Given the description of an element on the screen output the (x, y) to click on. 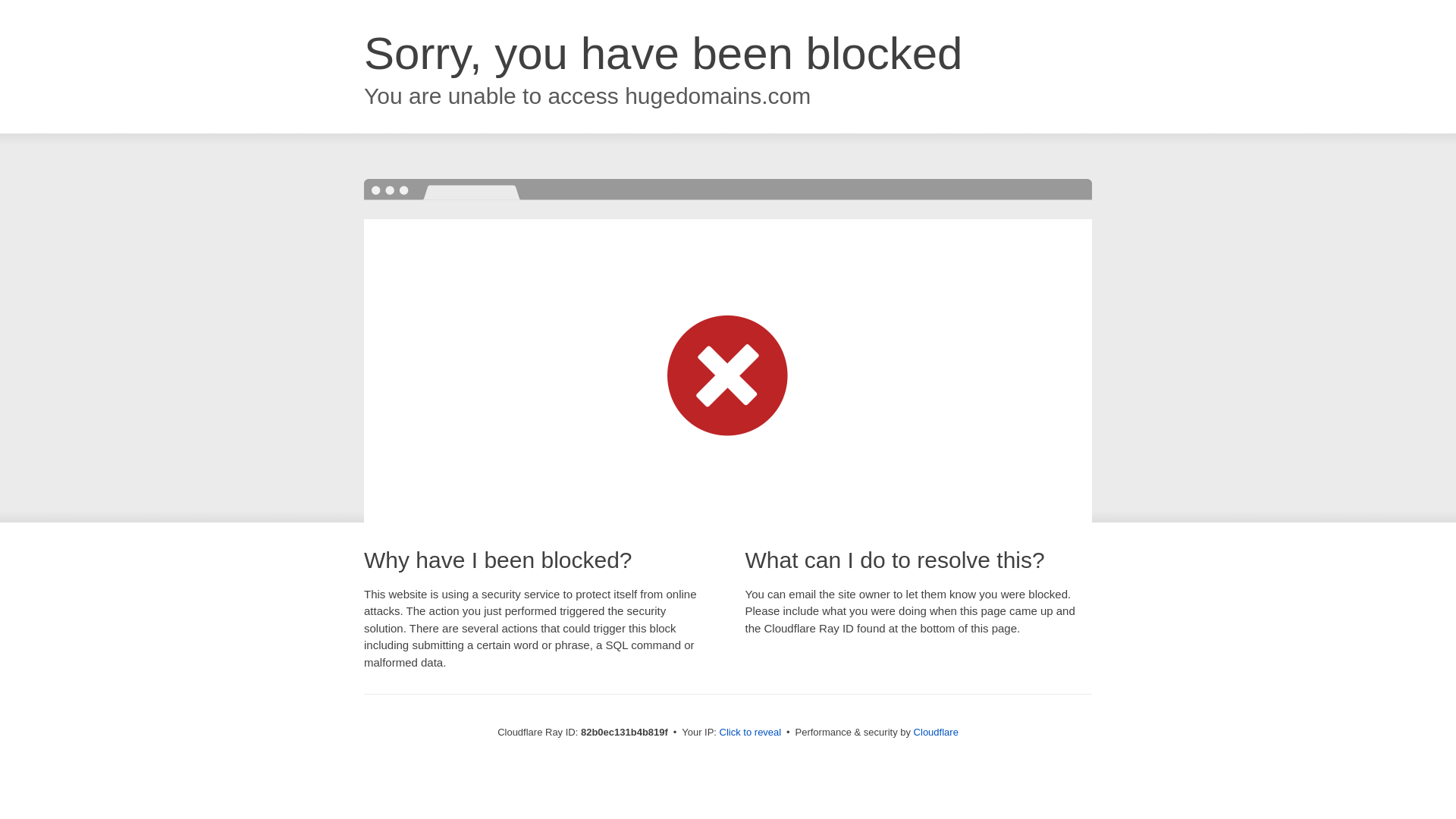
Click to reveal Element type: text (750, 732)
Cloudflare Element type: text (935, 731)
